Given the description of an element on the screen output the (x, y) to click on. 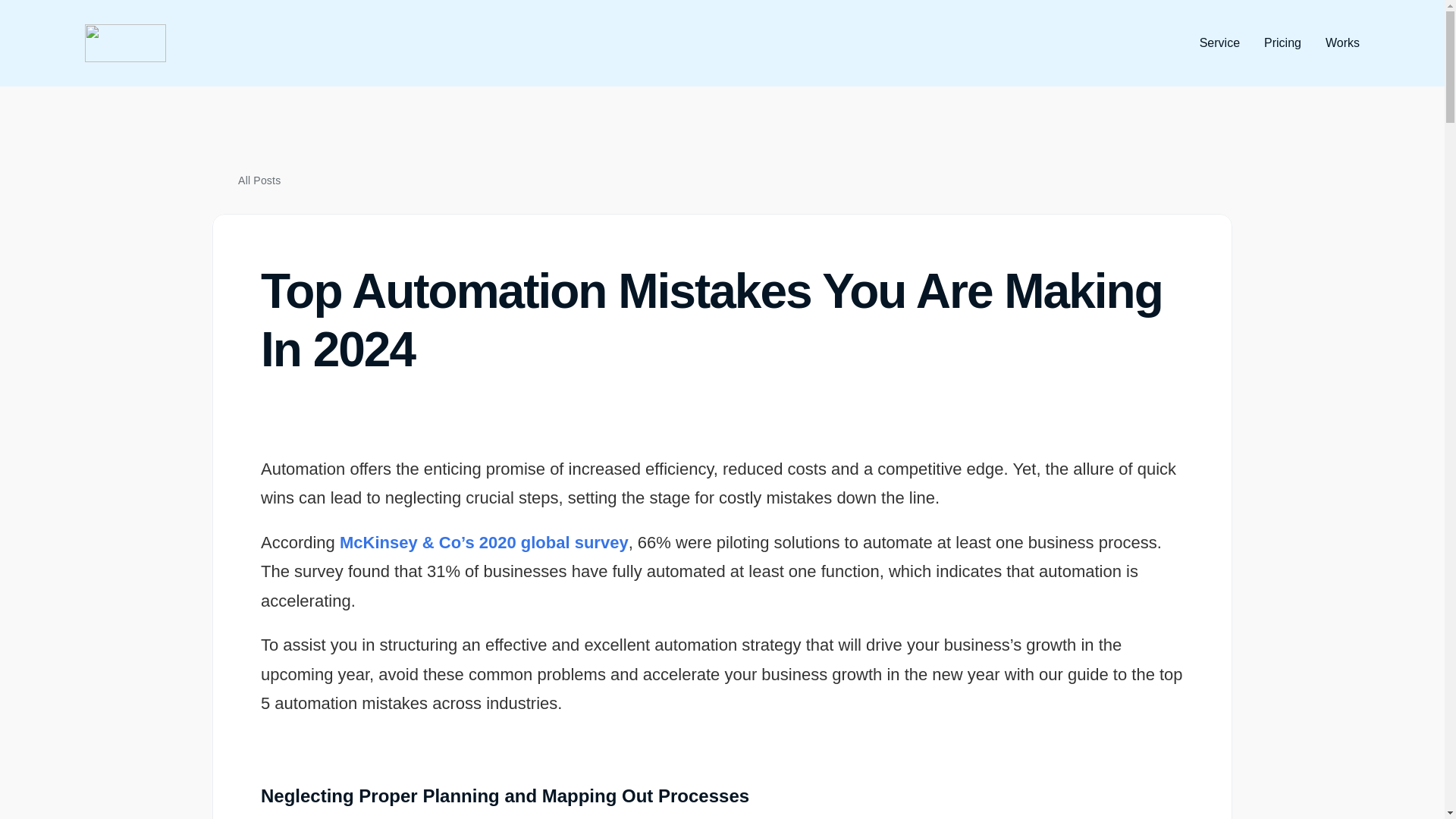
Pricing (1282, 42)
All Posts (259, 180)
Works (1341, 42)
Service (1219, 42)
